Given the description of an element on the screen output the (x, y) to click on. 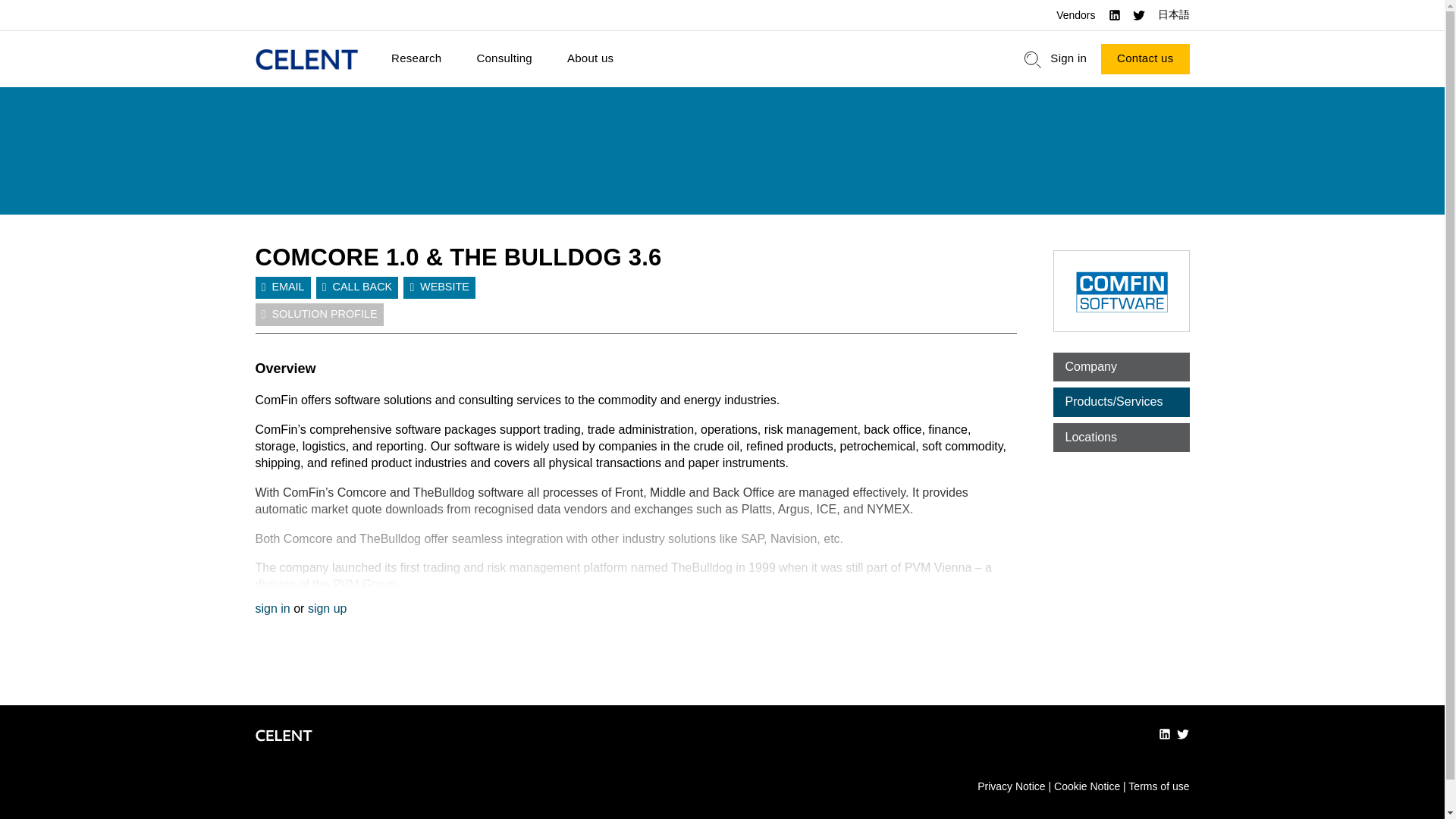
Vendors (1075, 15)
Research (415, 59)
Home (306, 59)
Sign in (1068, 59)
About us (590, 59)
search (1032, 58)
Contact us (1144, 59)
Company (1120, 366)
Consulting (503, 59)
